Given the description of an element on the screen output the (x, y) to click on. 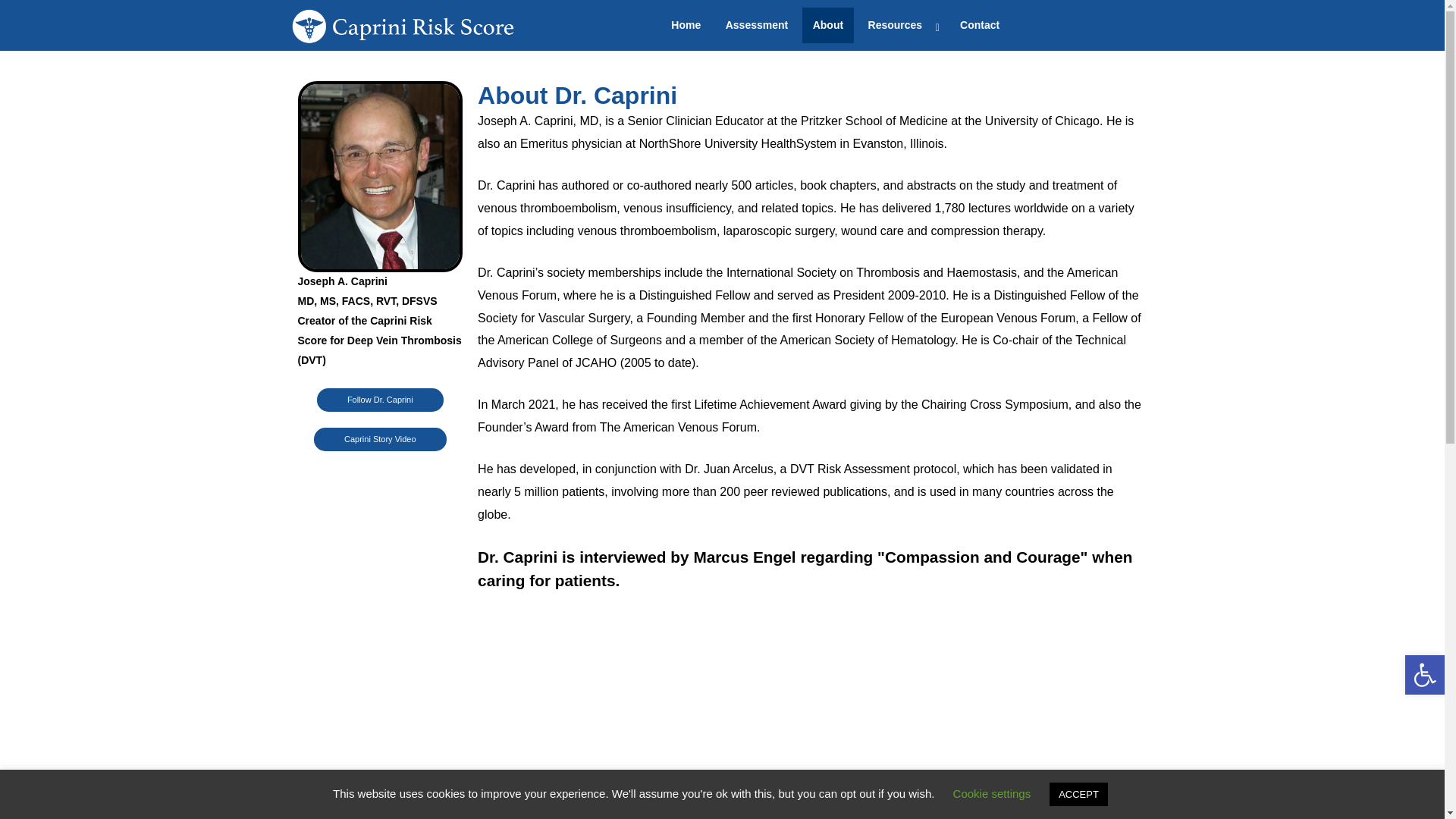
Home (686, 24)
Cookie settings (991, 793)
Caprini Story Video (380, 439)
About (827, 24)
ACCEPT (1078, 793)
Resources (901, 24)
Follow Dr. Caprini (380, 399)
Contact (979, 24)
Assessment (756, 24)
